Given the description of an element on the screen output the (x, y) to click on. 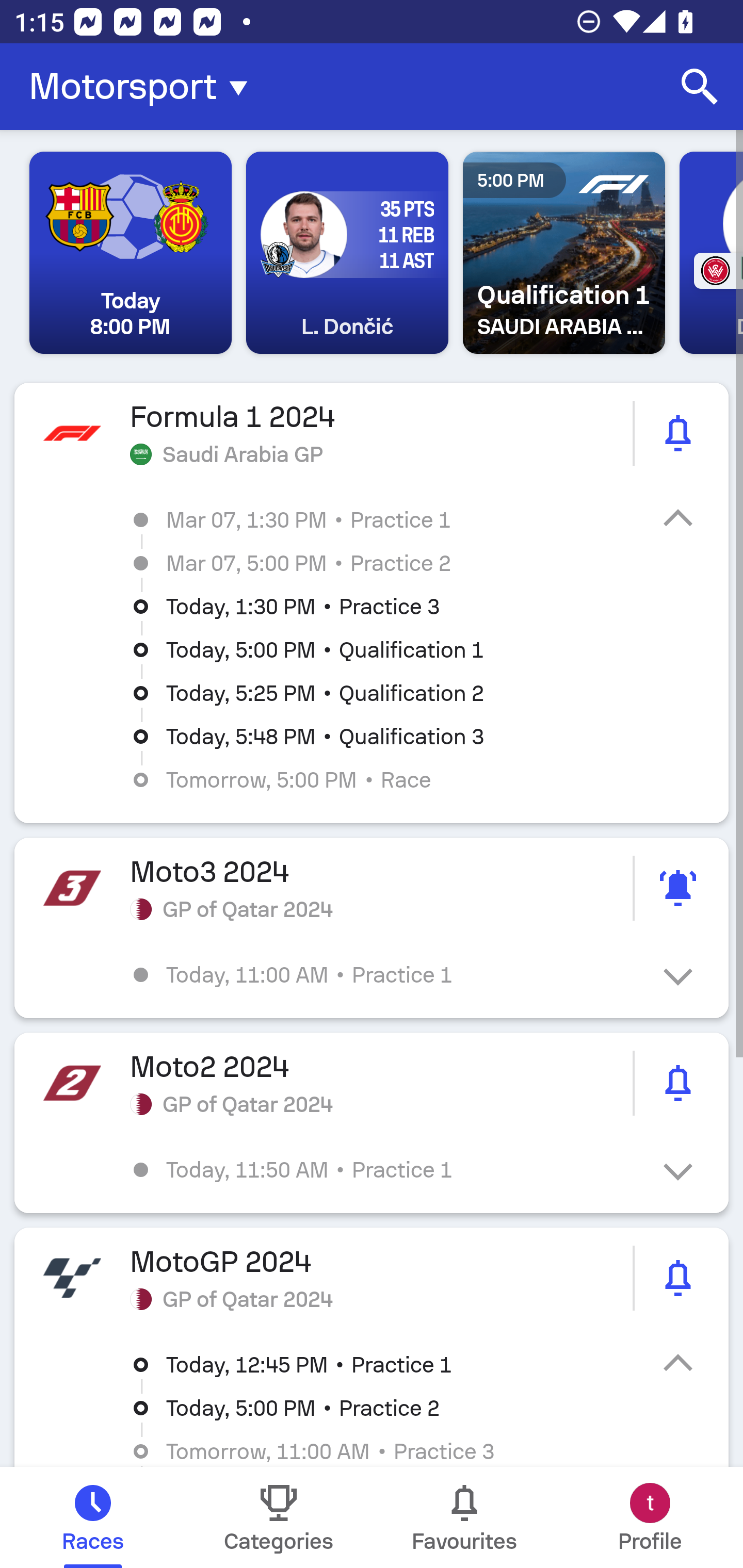
Motorsport (144, 86)
Search (699, 86)
Today
8:00 PM (130, 253)
35 PTS
11 REB
11 AST L. Dončić (346, 253)
Today, 11:00 AM • Practice 1 (385, 974)
Today, 11:50 AM • Practice 1 (385, 1169)
Categories (278, 1517)
Favourites (464, 1517)
Profile (650, 1517)
